Given the description of an element on the screen output the (x, y) to click on. 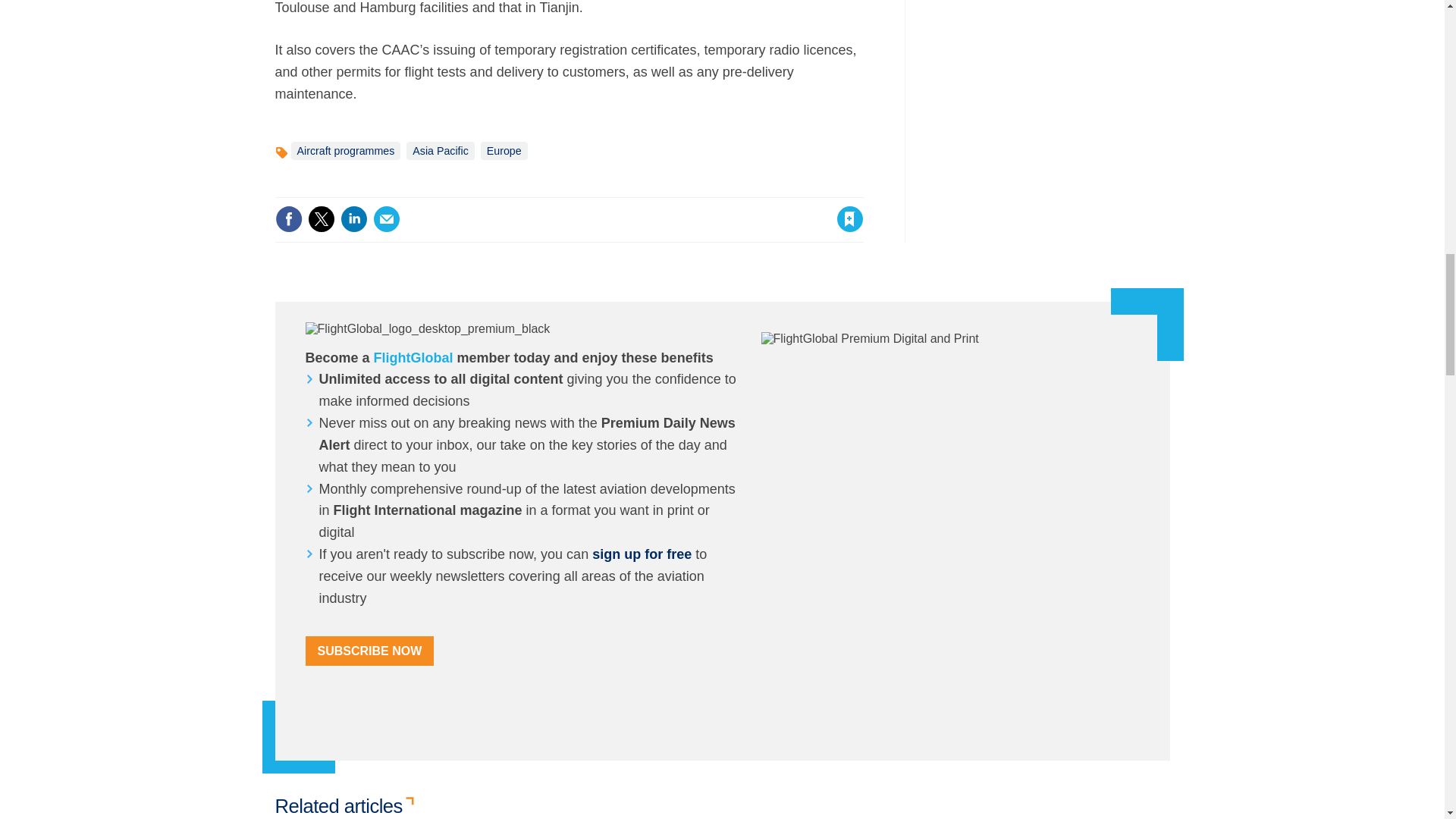
Share this on Twitter (320, 218)
Share this on Facebook (288, 218)
Share this on Linked in (352, 218)
Email this article (386, 218)
